Given the description of an element on the screen output the (x, y) to click on. 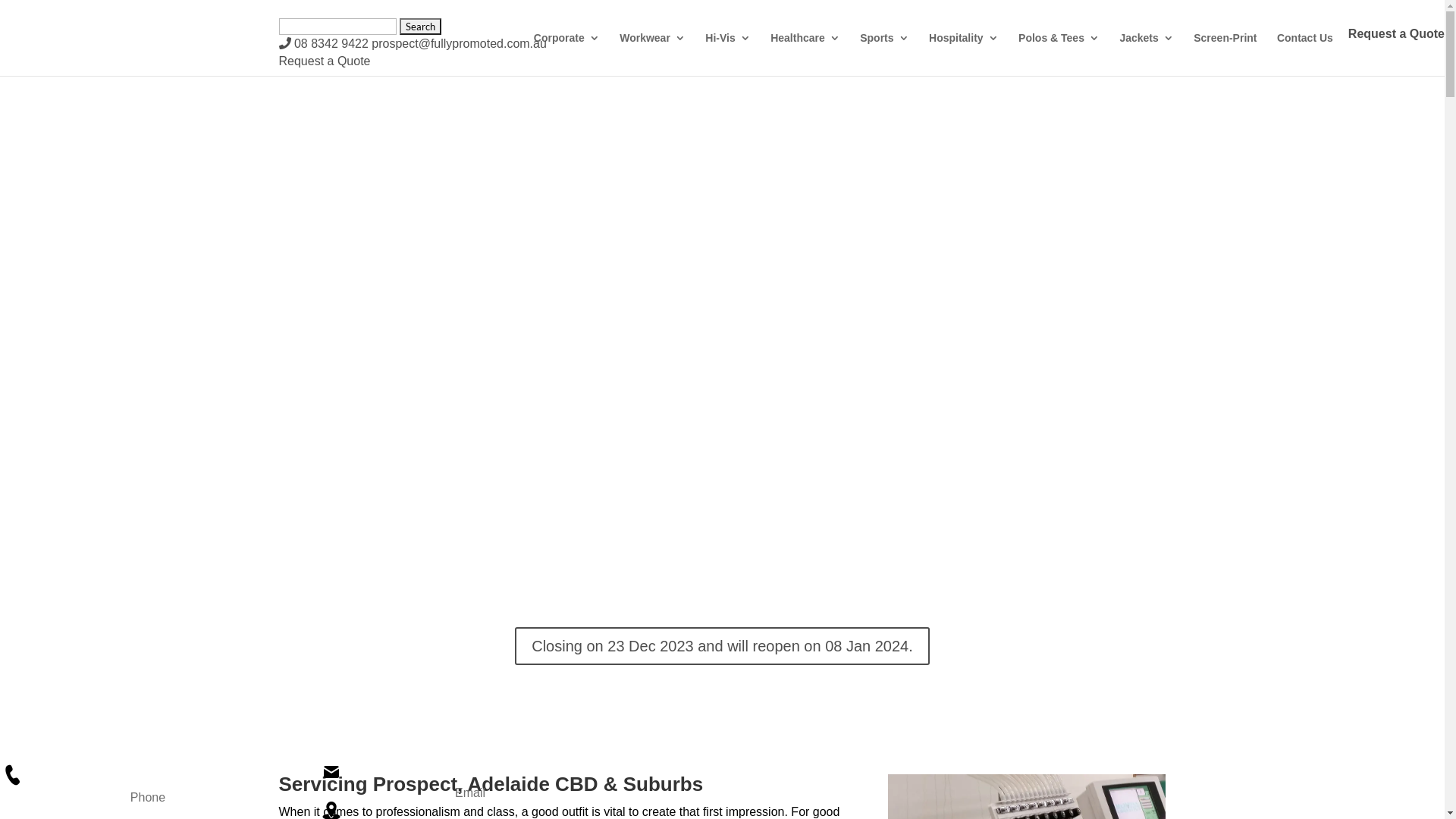
Healthcare Element type: text (805, 50)
Screen-Print Element type: text (1224, 50)
Request a Quote Element type: text (1396, 33)
Contact Us Element type: text (1305, 50)
Workwear Element type: text (652, 50)
08 8342 9422 Element type: text (323, 43)
Corporate Uniforms | Home Element type: hover (331, 771)
Jackets Element type: text (1146, 50)
Sports Element type: text (883, 50)
Polos & Tees Element type: text (1058, 50)
Hospitality Element type: text (963, 50)
Closing on 23 Dec 2023 and will reopen on 08 Jan 2024. Element type: text (721, 646)
Request a Quote Element type: text (324, 60)
Search Element type: text (420, 26)
Corporate Uniforms | Home Element type: hover (722, 301)
Corporate Uniforms | Home Element type: hover (12, 774)
Hi-Vis Element type: text (727, 50)
prospect@fullypromoted.com.au Element type: text (458, 43)
Corporate Element type: text (566, 50)
